Given the description of an element on the screen output the (x, y) to click on. 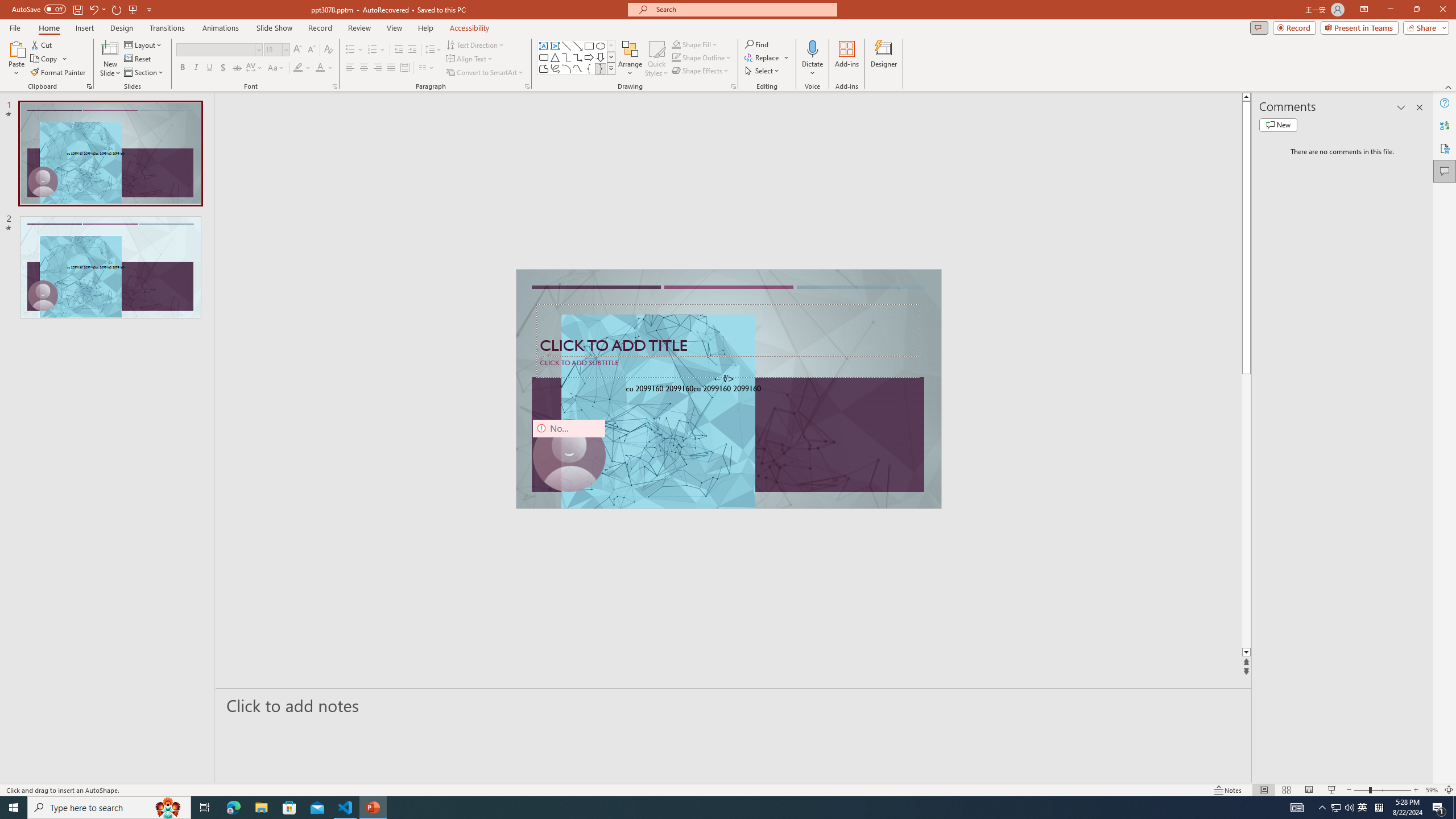
Numbering (372, 49)
Camera 9, No camera detected. (568, 455)
Slide Notes (733, 705)
Convert to SmartArt (485, 72)
Clear Formatting (327, 49)
Freeform: Scribble (554, 68)
Cut (42, 44)
Underline (209, 67)
Shape Fill (694, 44)
